Given the description of an element on the screen output the (x, y) to click on. 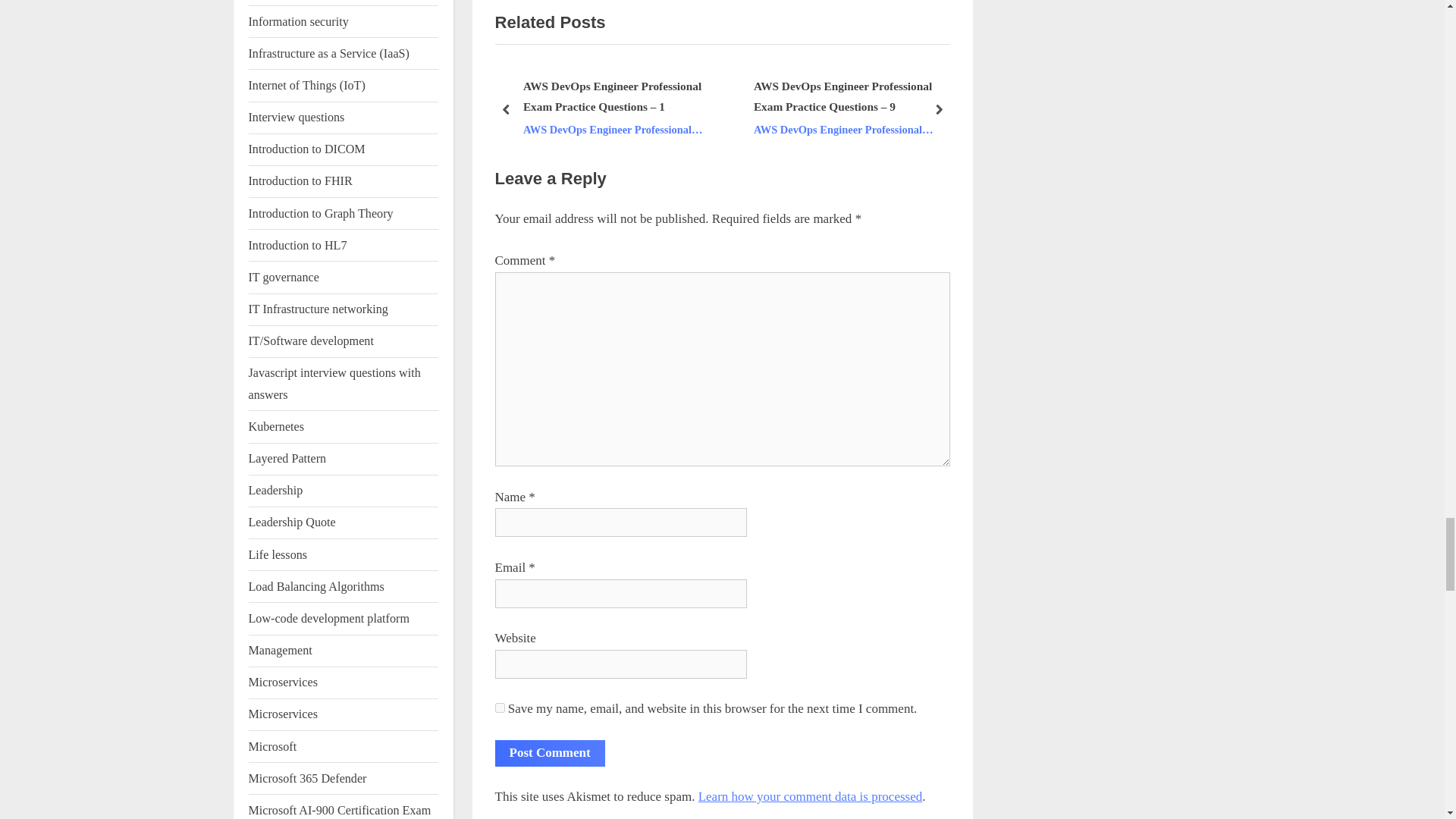
yes (499, 707)
Post Comment (549, 753)
